Given the description of an element on the screen output the (x, y) to click on. 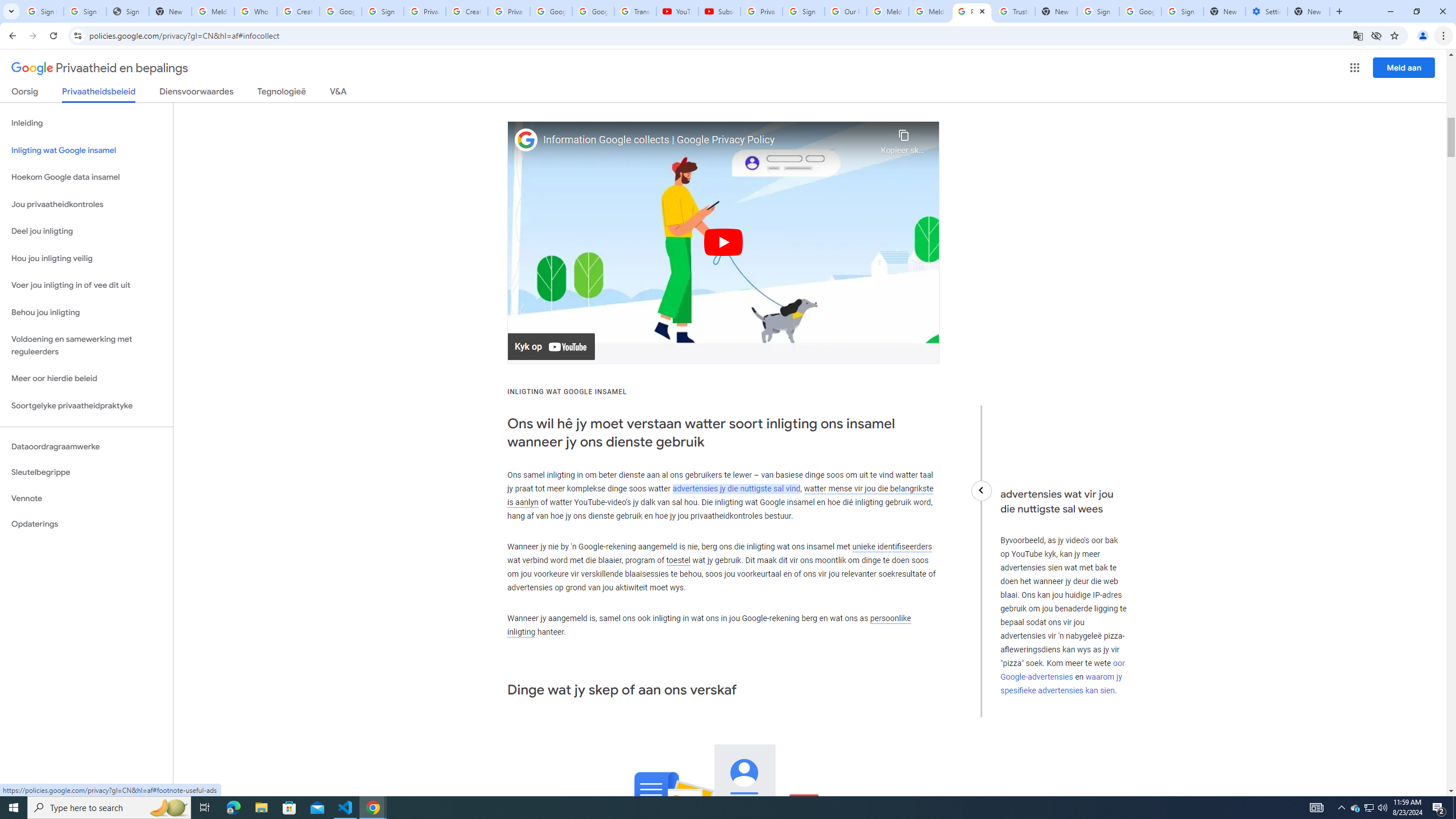
Privaatheid en bepalings (99, 68)
YouTube (676, 11)
Voer jou inligting in of vee dit uit (86, 284)
Jou privaatheidkontroles (86, 204)
Sign in - Google Accounts (803, 11)
Information Google collects | Google Privacy Policy (709, 140)
advertensies jy die nuttigste sal vind (736, 488)
Voldoening en samewerking met reguleerders (86, 345)
